Given the description of an element on the screen output the (x, y) to click on. 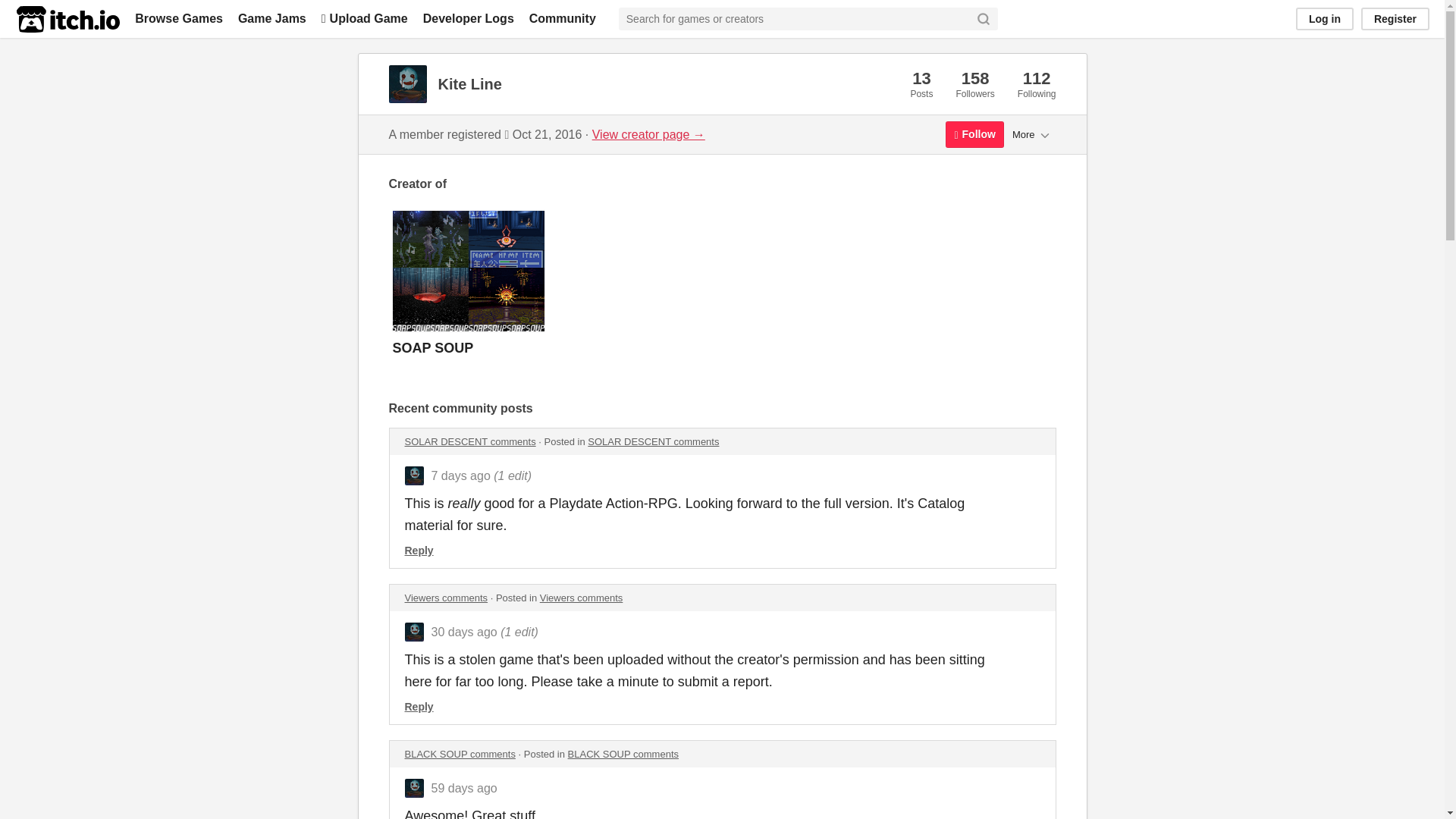
SOAP SOUP (722, 291)
Reply (418, 550)
30 days ago (463, 631)
itch.io - indie game hosting marketplace (67, 18)
2024-08-03 09:22:03 (463, 631)
Developer Logs (468, 18)
2024-07-04 23:08:25 (463, 788)
Log in (1324, 18)
SOLAR DESCENT comments (653, 441)
Reply (418, 706)
